Given the description of an element on the screen output the (x, y) to click on. 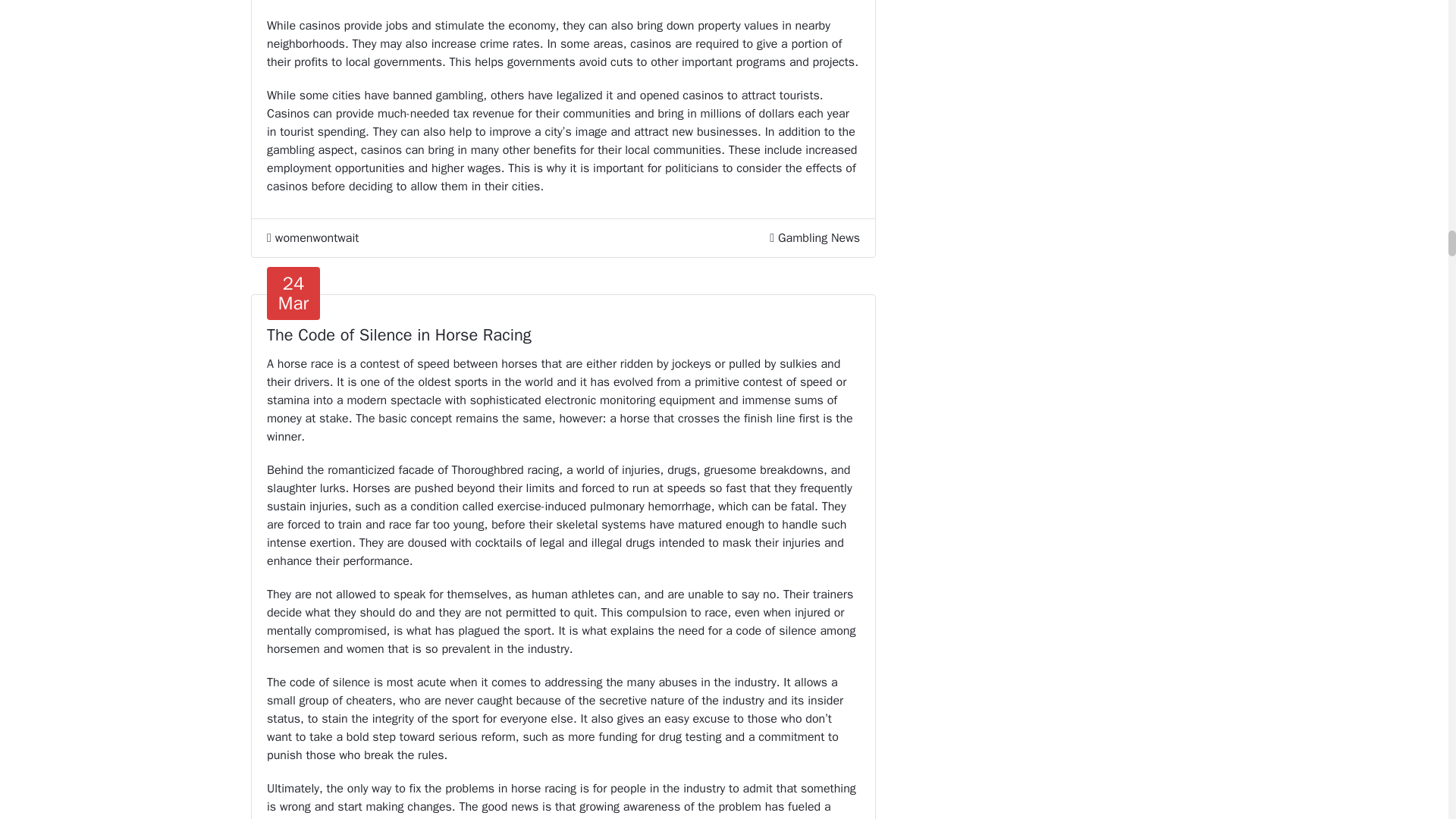
womenwontwait (312, 238)
